Given the description of an element on the screen output the (x, y) to click on. 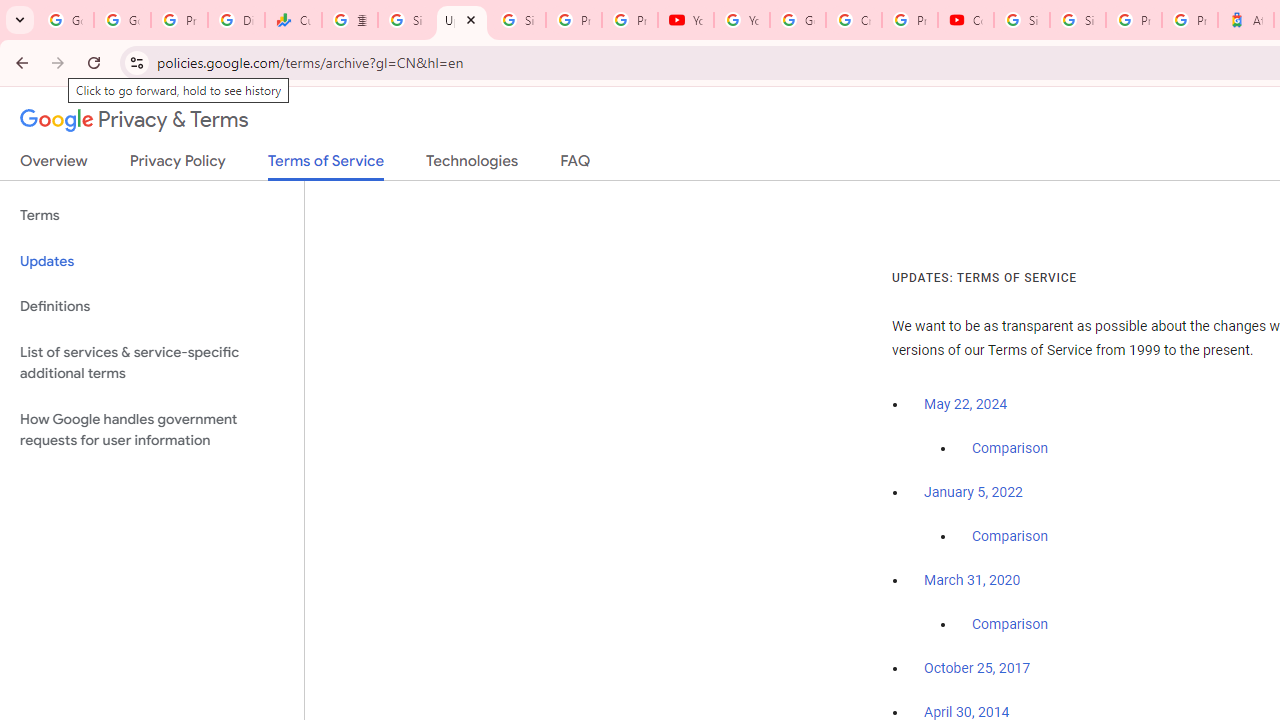
Privacy Checkup (629, 20)
YouTube (685, 20)
Sign in - Google Accounts (1077, 20)
List of services & service-specific additional terms (152, 362)
Google Account Help (797, 20)
Sign in - Google Accounts (405, 20)
